Given the description of an element on the screen output the (x, y) to click on. 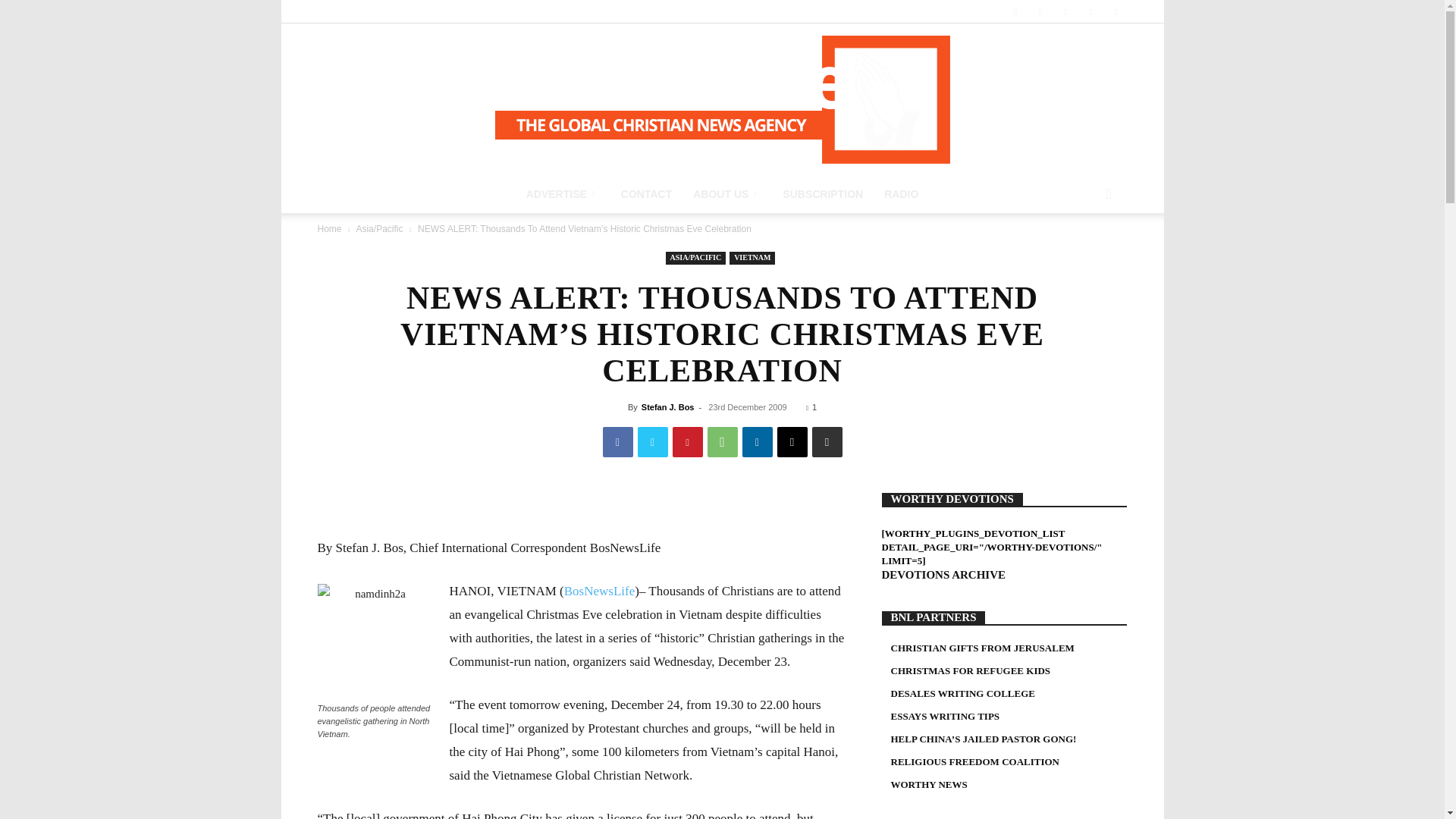
CONTACT (646, 193)
Home (328, 228)
Soundcloud (1065, 11)
BosNewsLife (722, 99)
Facebook (1015, 11)
1 (811, 406)
RADIO (900, 193)
ABOUT US (726, 193)
Twitter (1090, 11)
Stefan J. Bos (668, 406)
SUBSCRIPTION (822, 193)
ADVERTISE (562, 193)
